Given the description of an element on the screen output the (x, y) to click on. 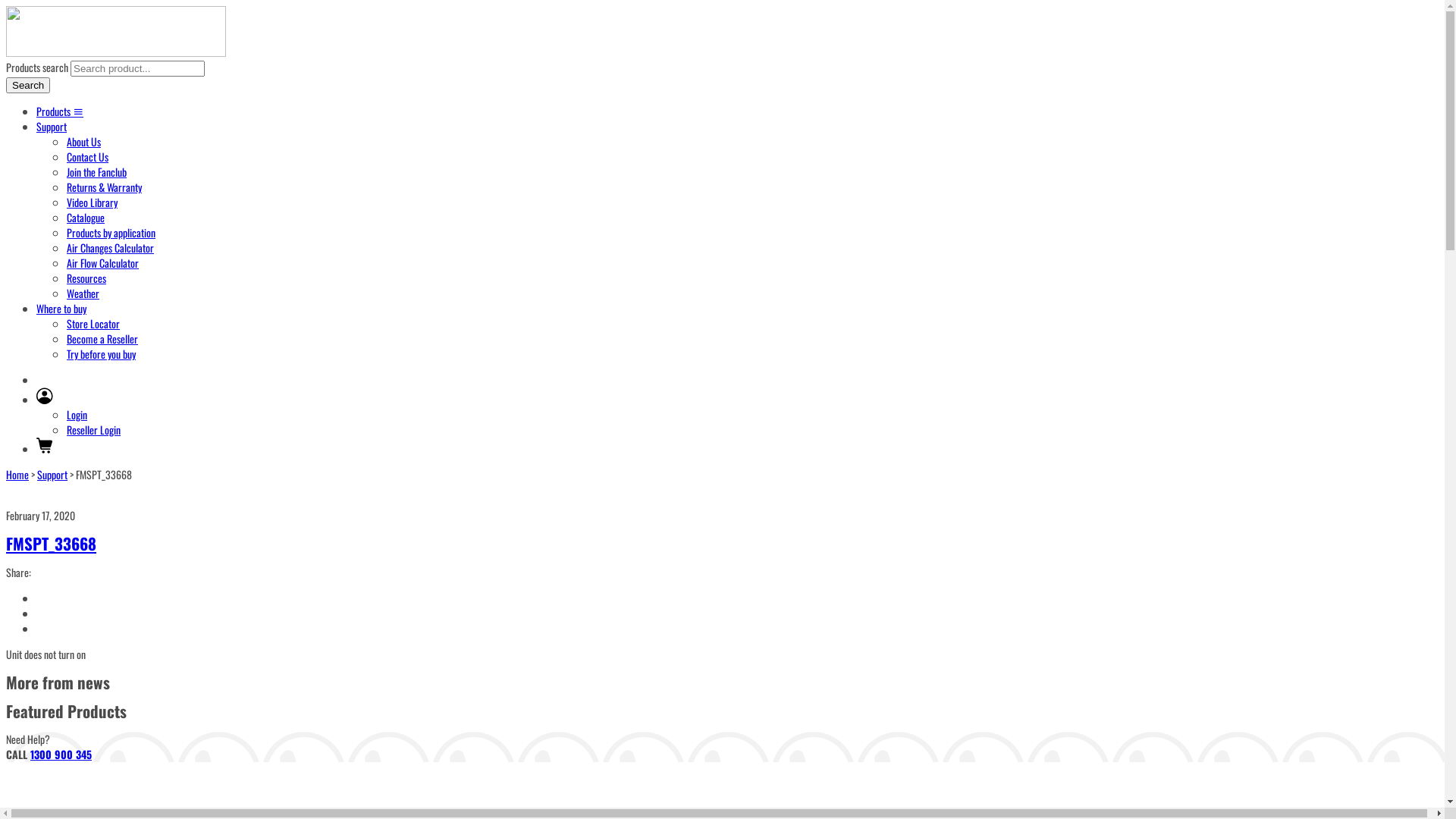
Home Element type: text (17, 474)
Search Element type: text (28, 85)
Join the Fanclub Element type: text (96, 171)
Video Library Element type: text (91, 202)
Reseller Login Element type: text (93, 429)
Become a Reseller Element type: text (102, 338)
Login / Register Element type: hover (44, 399)
Air Changes Calculator Element type: text (109, 247)
1300 900 345 Element type: text (60, 754)
Air Flow Calculator Element type: text (102, 262)
Where to buy Element type: text (61, 308)
Products by application Element type: text (110, 232)
Support Element type: text (52, 474)
Catalogue Element type: text (85, 217)
About Us Element type: text (83, 141)
Login Element type: text (76, 414)
Support Element type: text (51, 126)
FMSPT_33668 Element type: text (51, 543)
Weather Element type: text (82, 293)
Try before you buy Element type: text (100, 353)
Returns & Warranty Element type: text (103, 186)
Products Element type: text (59, 111)
Store Locator Element type: text (92, 323)
Resources Element type: text (86, 277)
Fanmaster Element type: hover (115, 51)
Contact Us Element type: text (87, 156)
